Given the description of an element on the screen output the (x, y) to click on. 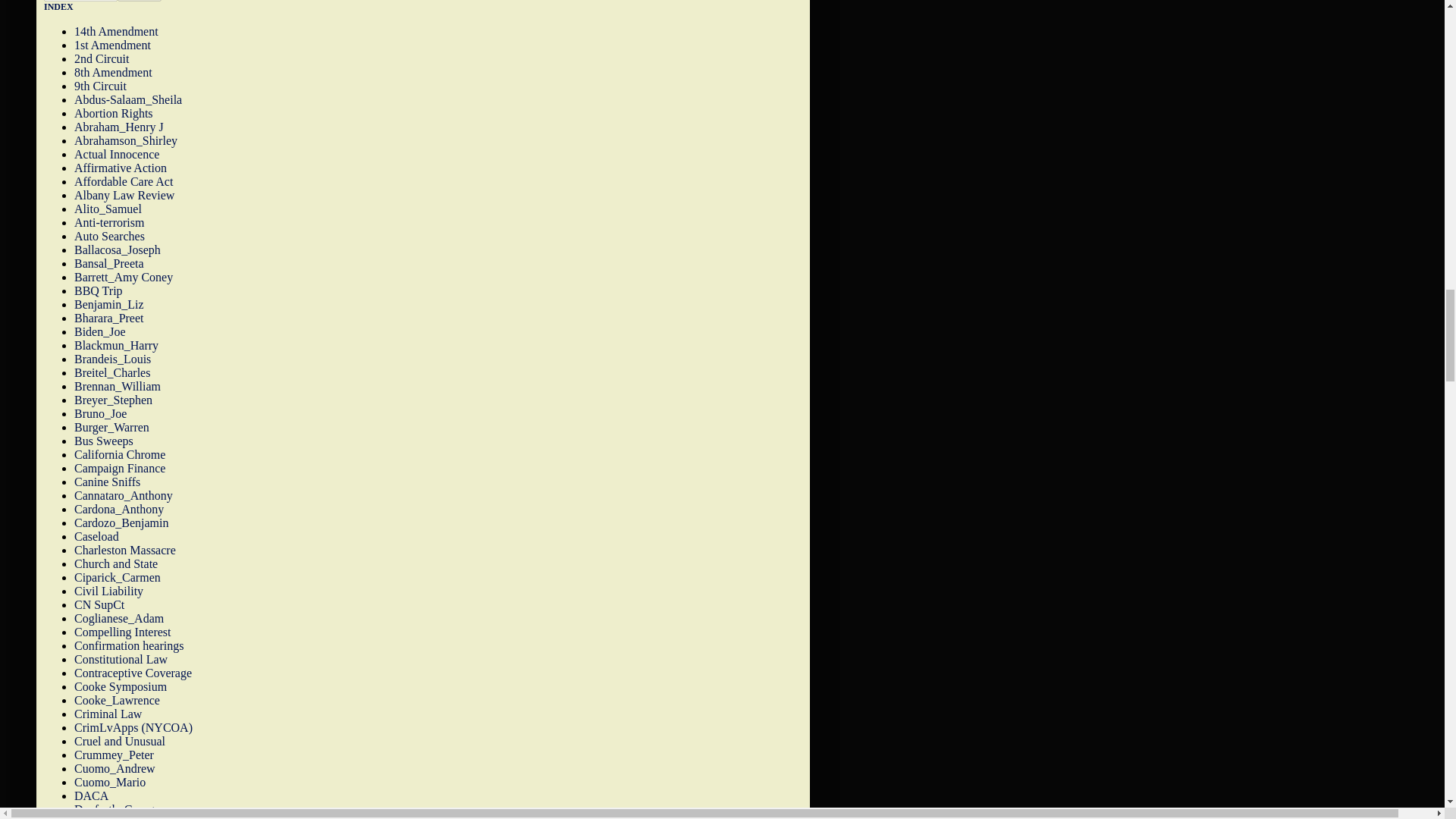
Search (139, 0)
Search (139, 0)
search (80, 0)
search (139, 0)
1st Amendment (112, 44)
9th Circuit (100, 85)
8th Amendment (113, 72)
Affordable Care Act (123, 181)
14th Amendment (116, 31)
Search (139, 0)
Actual Innocence (116, 154)
Abortion Rights (113, 113)
2nd Circuit (101, 58)
Affirmative Action (120, 167)
